Given the description of an element on the screen output the (x, y) to click on. 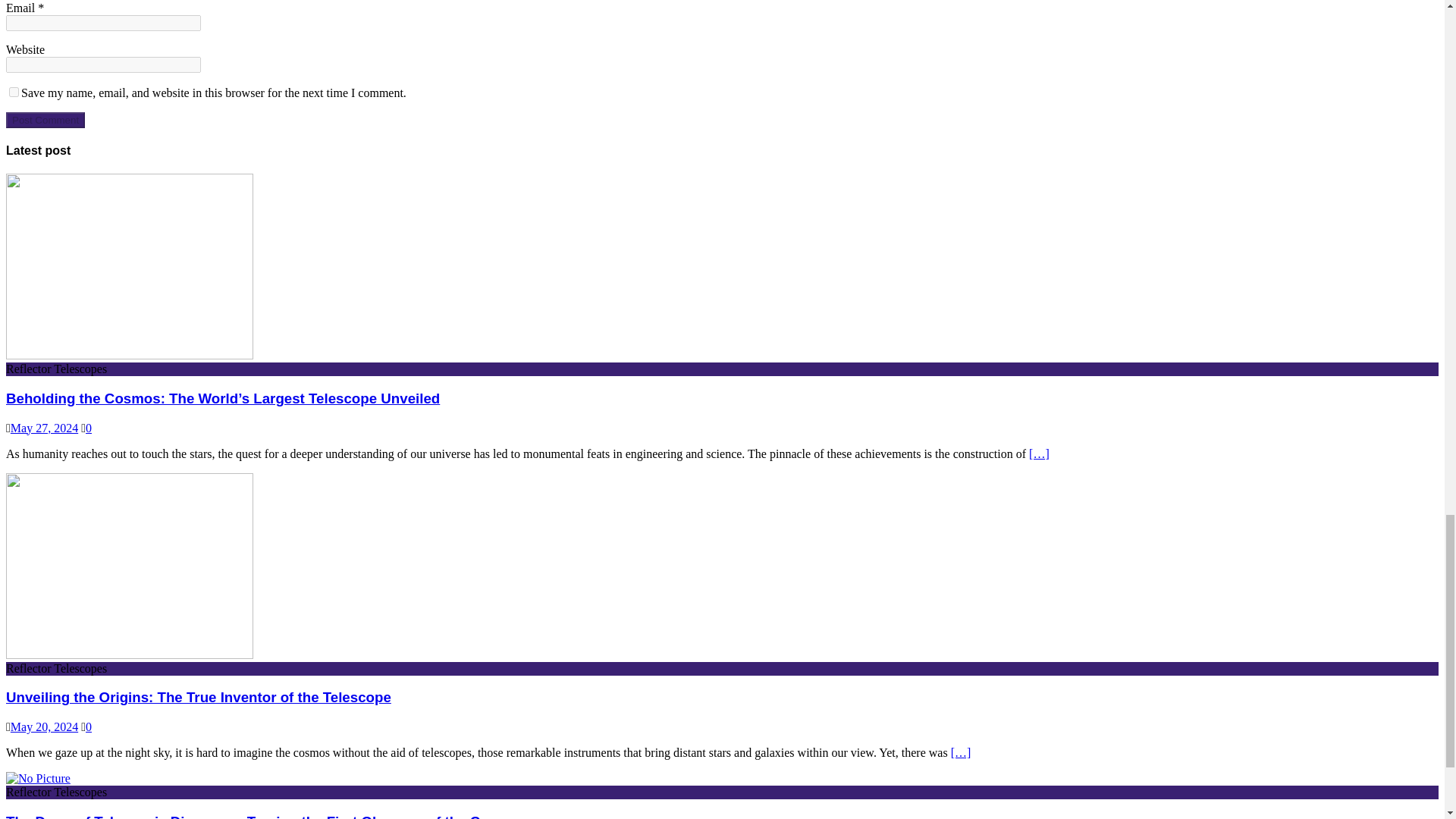
May 27, 2024 (44, 427)
May 20, 2024 (44, 726)
Post Comment (44, 119)
Post Comment (44, 119)
Unveiling the Origins: The True Inventor of the Telescope (198, 697)
yes (13, 91)
